Given the description of an element on the screen output the (x, y) to click on. 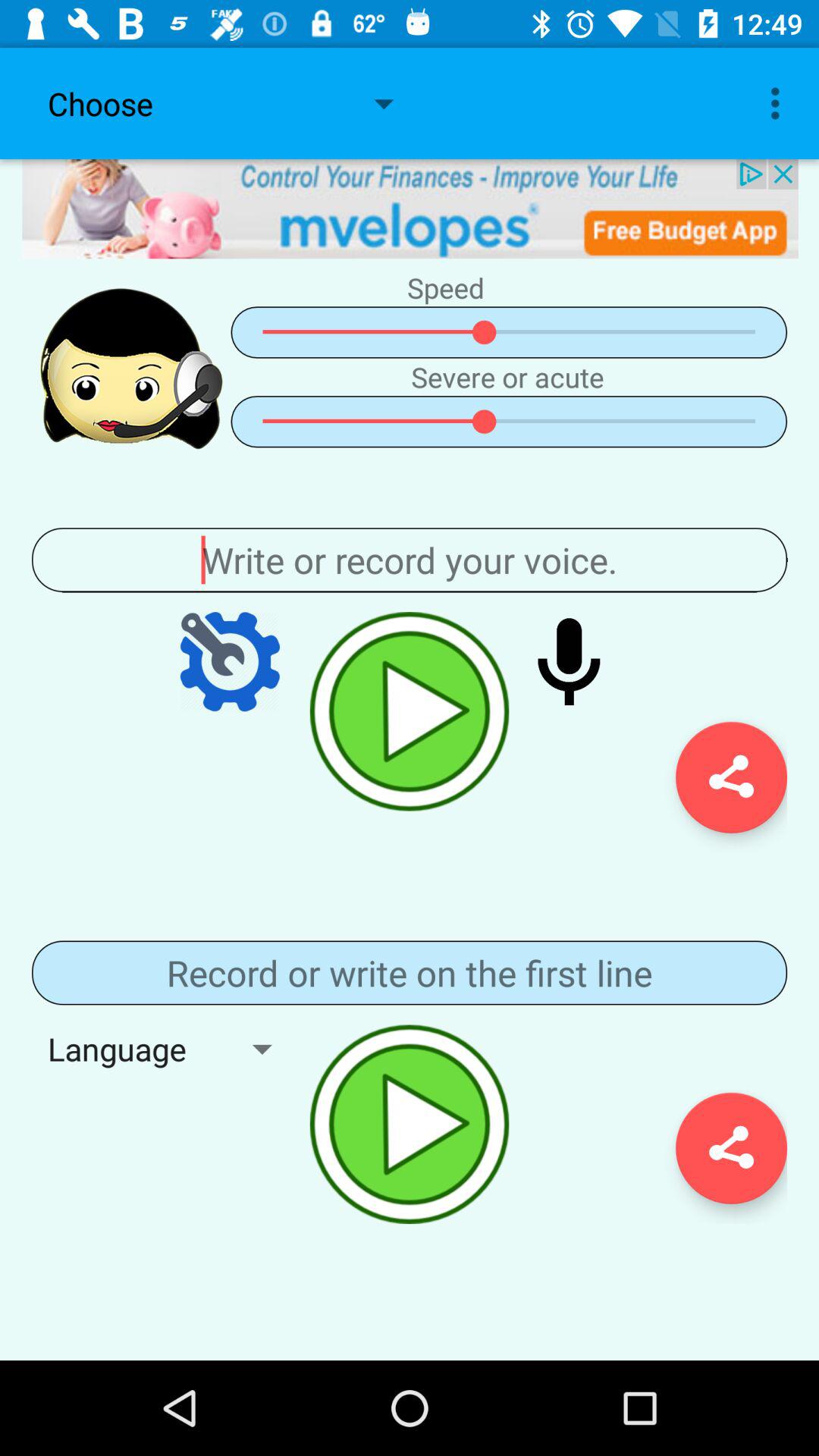
share the app (731, 777)
